Given the description of an element on the screen output the (x, y) to click on. 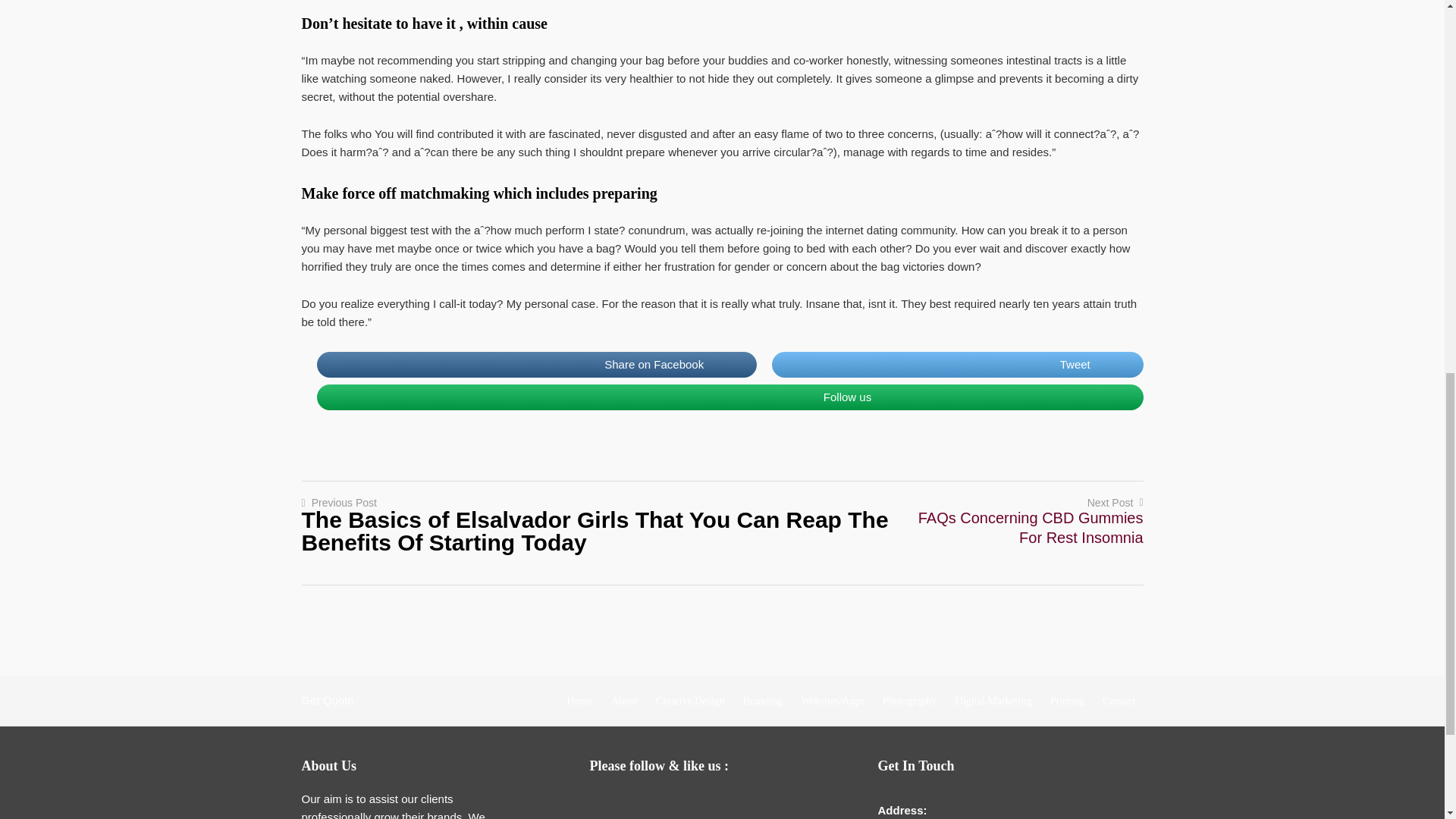
LinkedIn (698, 804)
Facebook (637, 804)
Instagram (728, 804)
Twitter (667, 804)
Follow by Email (606, 804)
